Given the description of an element on the screen output the (x, y) to click on. 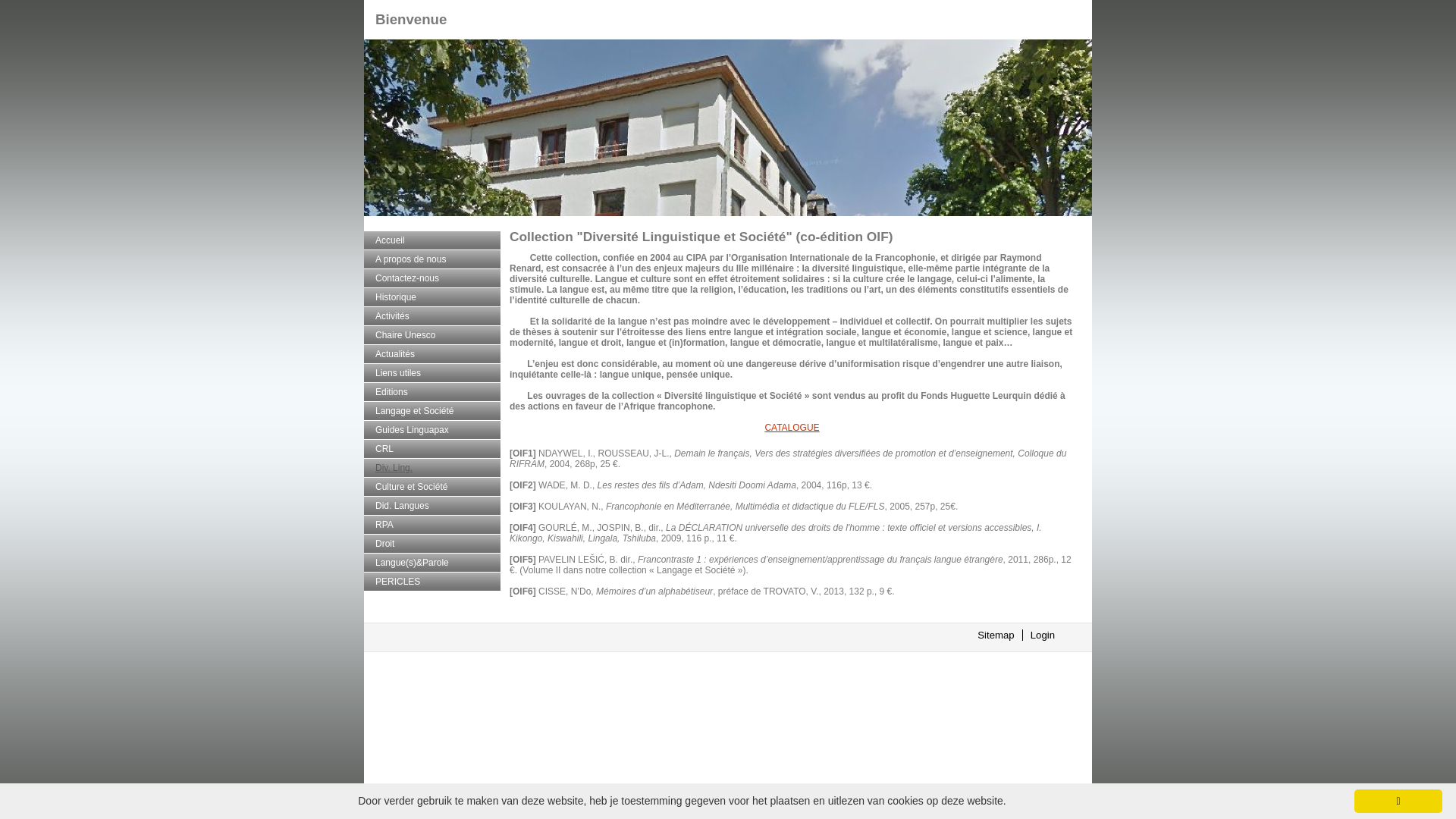
Guides Linguapax Element type: text (434, 429)
RPA Element type: text (434, 524)
Historique Element type: text (434, 297)
Did. Langues Element type: text (434, 505)
Chaire Unesco Element type: text (434, 335)
Sitemap Element type: text (995, 634)
Div. Ling. Element type: text (434, 467)
CATALOGUE Element type: text (791, 427)
Accueil Element type: text (434, 240)
Droit Element type: text (434, 543)
PERICLES Element type: text (434, 581)
Bienvenue Element type: text (410, 19)
Editions Element type: text (434, 391)
Langue(s)&Parole Element type: text (434, 562)
CRL Element type: text (434, 448)
A propos de nous Element type: text (434, 259)
Contactez-nous Element type: text (434, 278)
Login Element type: text (1042, 634)
Liens utiles Element type: text (434, 373)
